Given the description of an element on the screen output the (x, y) to click on. 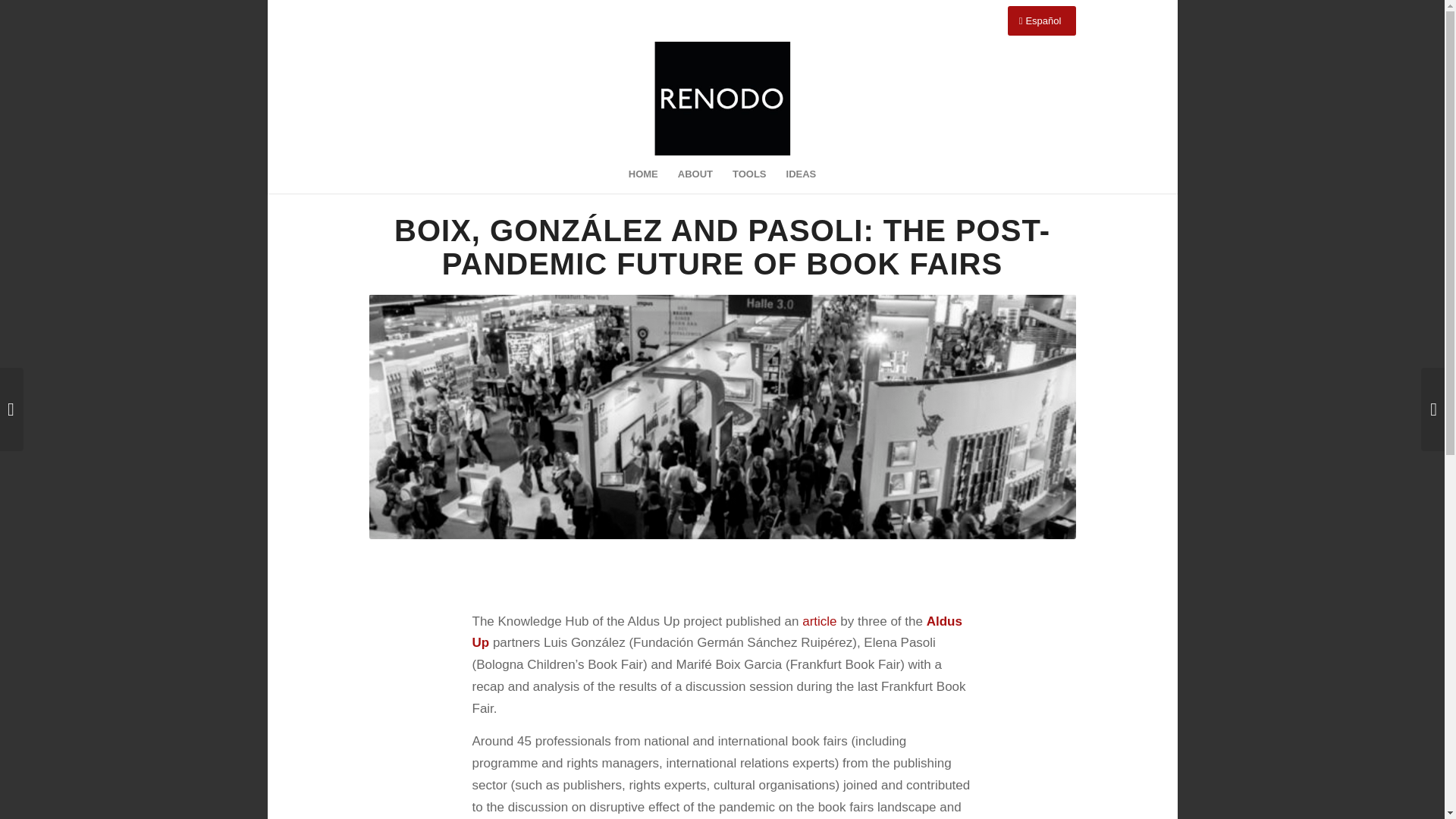
article (818, 621)
TOOLS (749, 174)
ABOUT (695, 174)
IDEAS (801, 174)
HOME (643, 174)
